Given the description of an element on the screen output the (x, y) to click on. 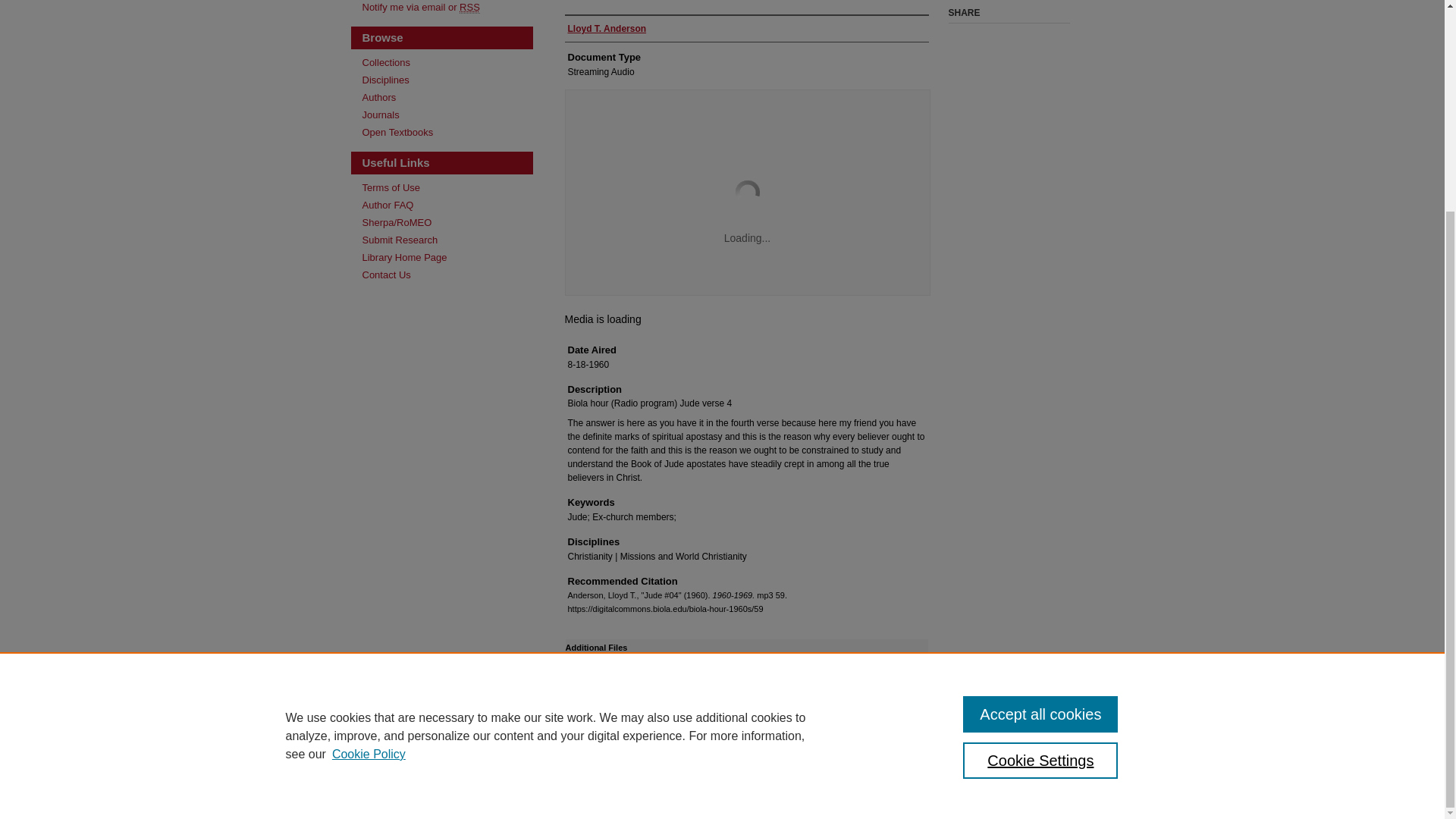
Email or RSS Notifications (447, 7)
Lloyd T. Anderson (606, 29)
Open Textbooks (447, 132)
Authors (447, 97)
Browse by Author (447, 97)
Journals (447, 114)
Notify me via email or RSS (447, 7)
Browse by Disciplines (447, 79)
Collections (447, 61)
Browse by Collections (447, 61)
Journals (447, 114)
Really Simple Syndication (470, 7)
Disciplines (447, 79)
